Given the description of an element on the screen output the (x, y) to click on. 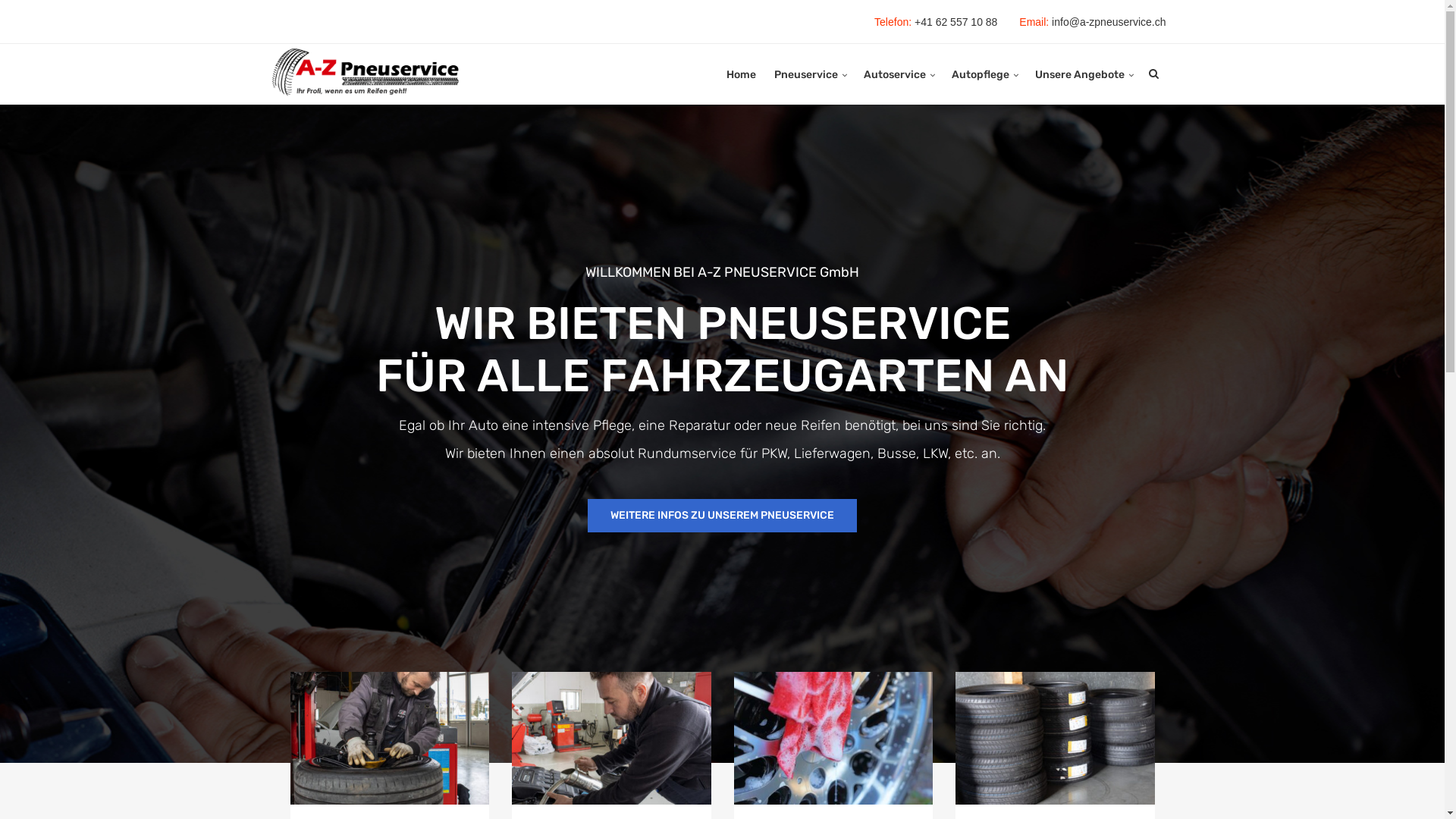
Pneuservice Element type: text (805, 74)
WEITERE INFOS ZU UNSEREM PNEUSERVICE Element type: text (721, 515)
Home Element type: text (741, 74)
WIR BIETEN PNEUSERVICE Element type: text (721, 323)
Unsere Angebote Element type: text (1078, 74)
Autoservice Element type: text (893, 74)
Autopflege Element type: text (979, 74)
